Given the description of an element on the screen output the (x, y) to click on. 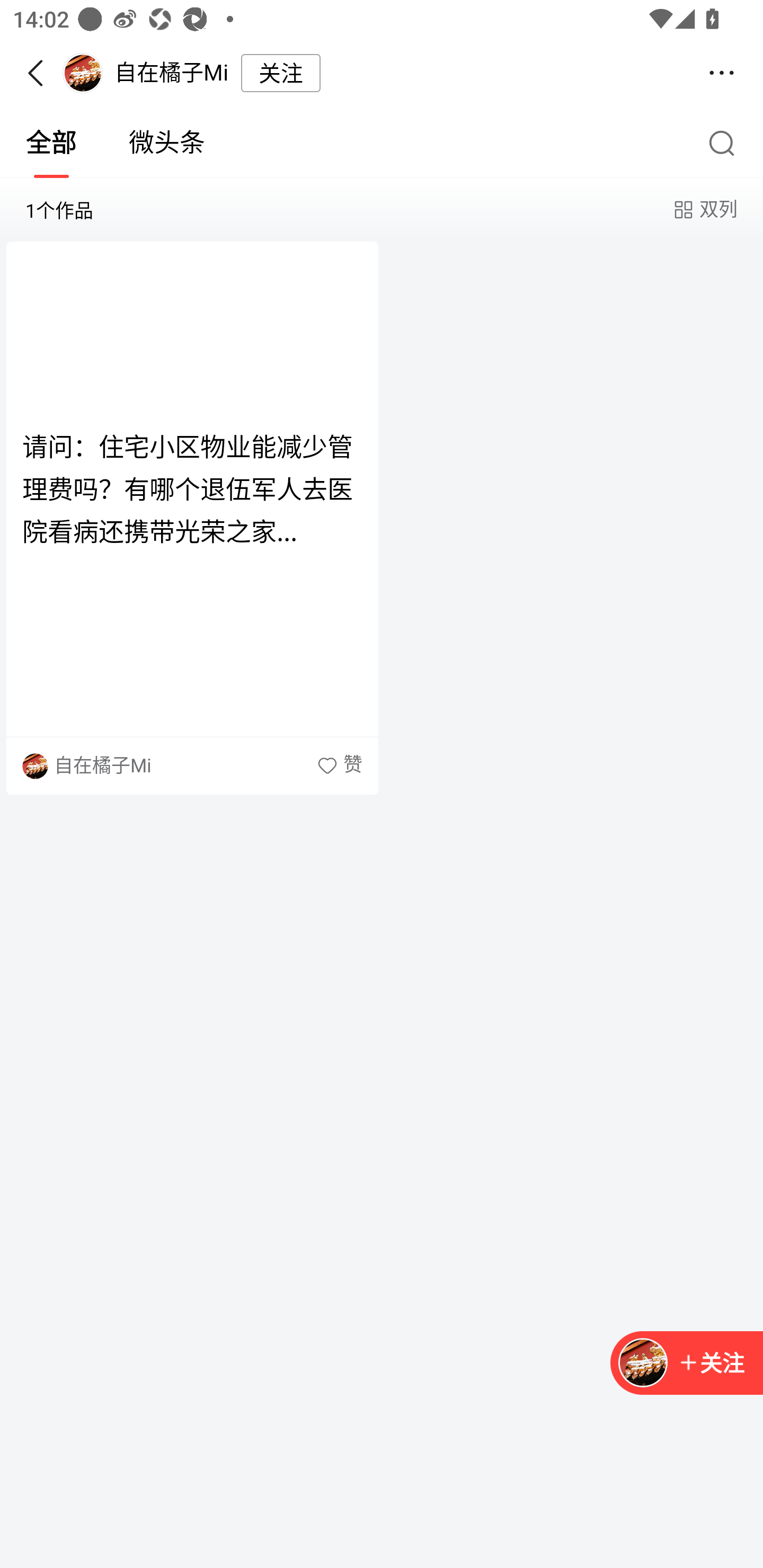
返回 (41, 72)
更多操作 (721, 72)
关注 (280, 72)
全部 (51, 143)
微头条 (167, 143)
搜索 (726, 142)
双列 当前双列点按切换至单列 (703, 209)
    关注 (686, 1363)
    关注 (711, 1363)
